Given the description of an element on the screen output the (x, y) to click on. 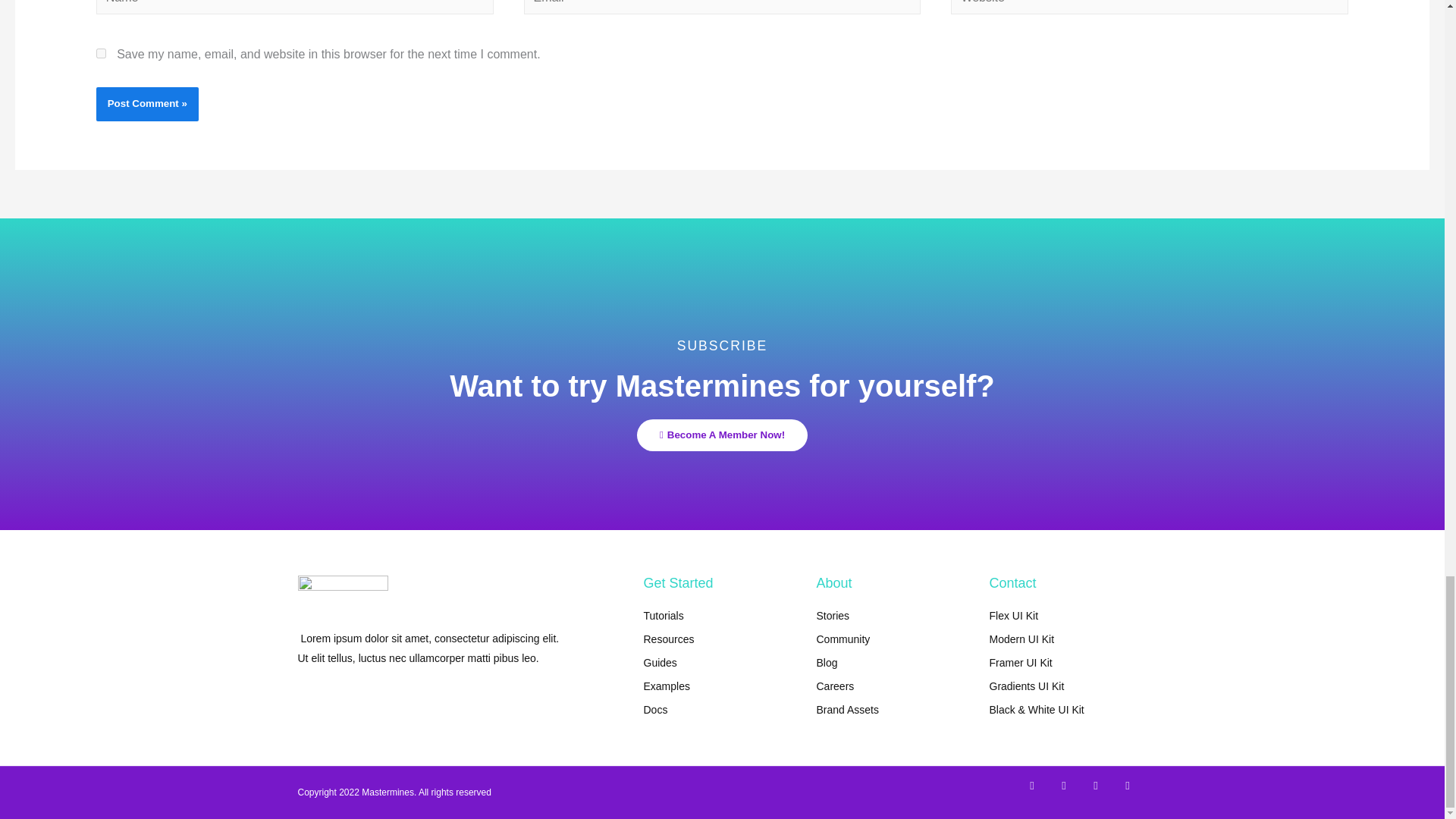
Become A Member Now! (722, 434)
yes (101, 53)
